Given the description of an element on the screen output the (x, y) to click on. 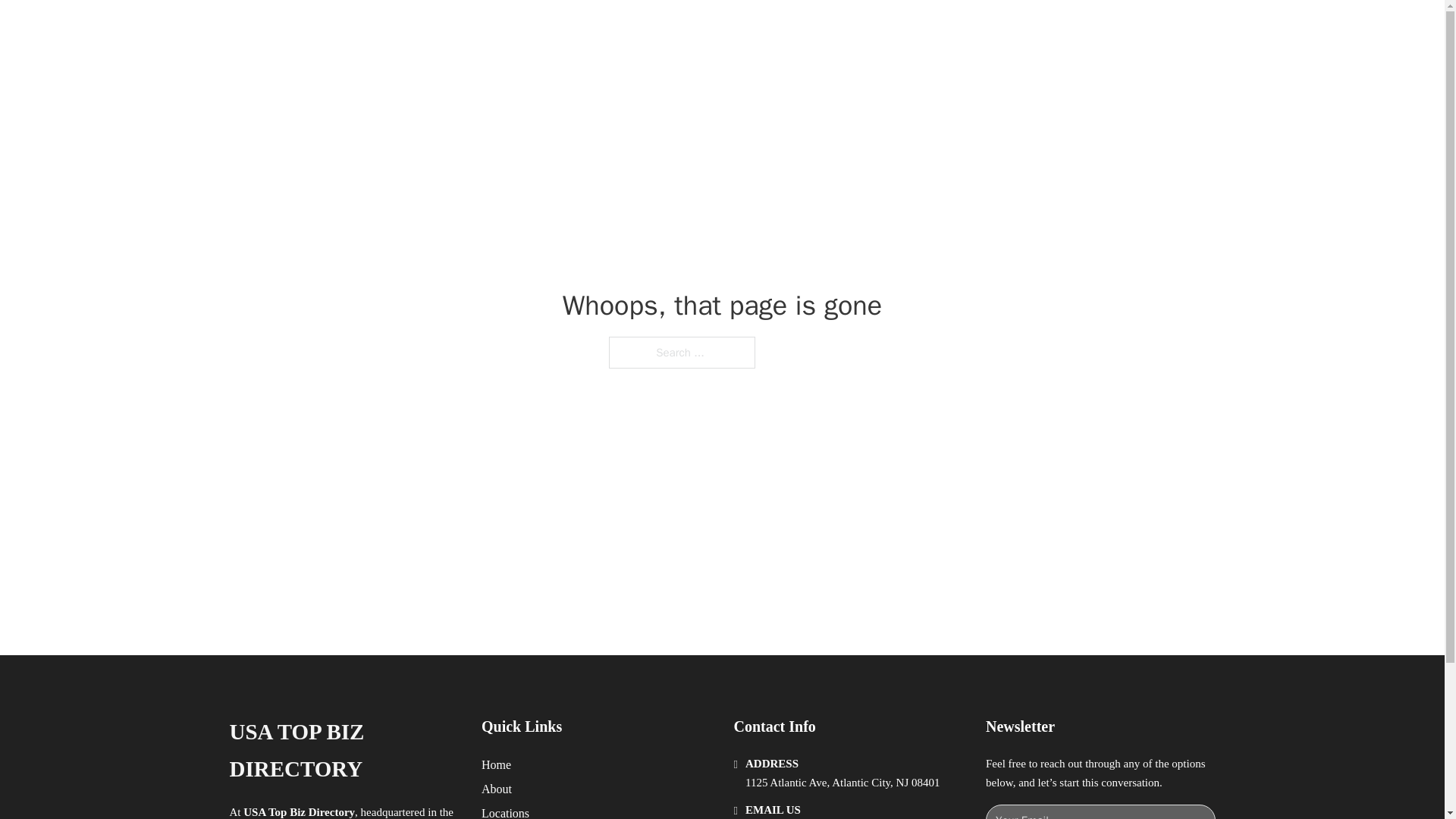
About (496, 788)
Home (496, 764)
LOCATIONS (990, 29)
HOME (919, 29)
USA TOP BIZ DIRECTORY (431, 28)
Locations (505, 811)
USA TOP BIZ DIRECTORY (343, 750)
